Given the description of an element on the screen output the (x, y) to click on. 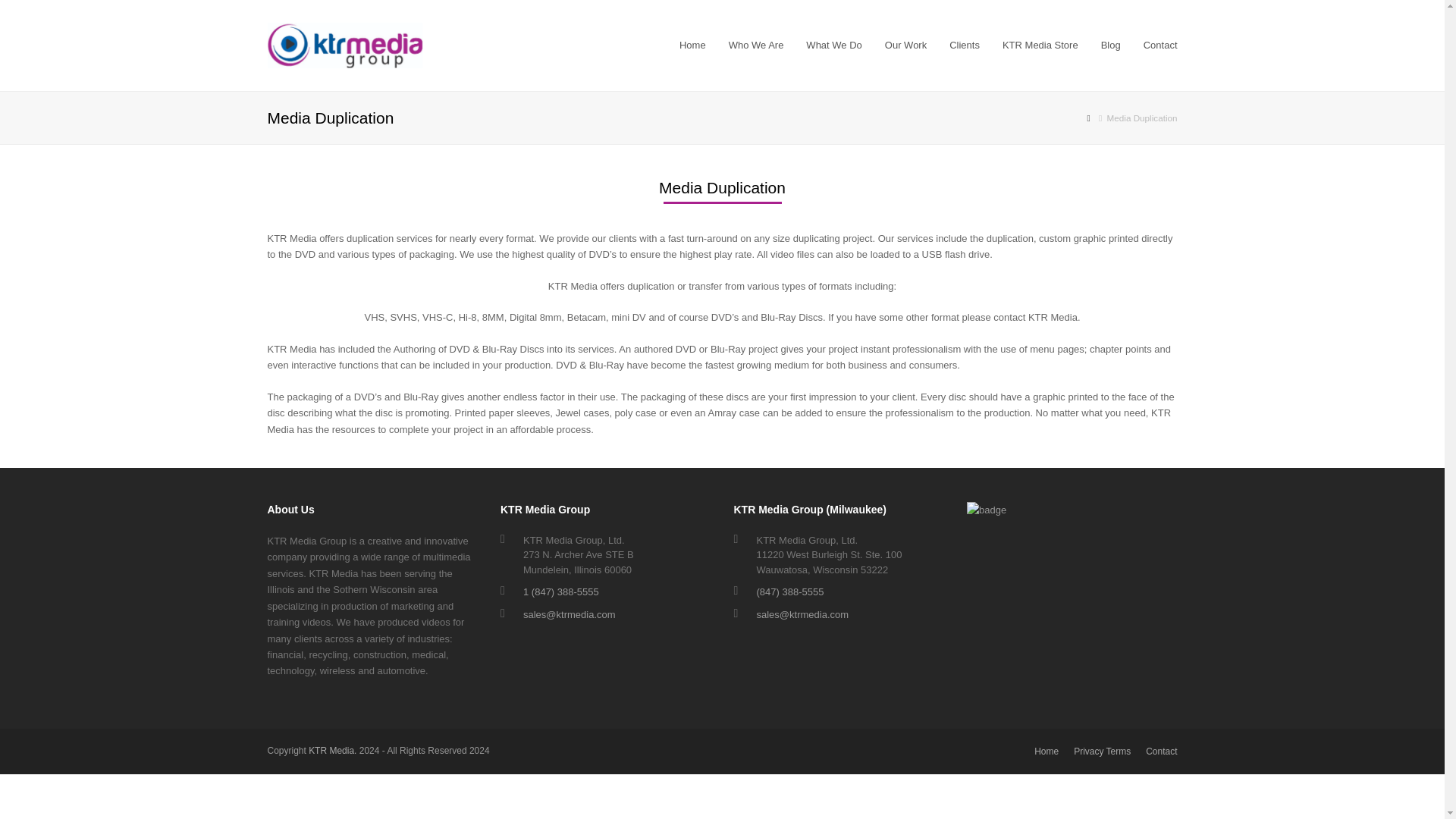
Who We Are (755, 45)
Clients (964, 45)
Contact (1160, 45)
Blog (1110, 45)
Home (1045, 751)
Our Work (905, 45)
Privacy Terms (1102, 751)
Home (692, 45)
KTR Media Store (1040, 45)
Contact (1160, 751)
What We Do (833, 45)
KTR Media. (332, 750)
